Given the description of an element on the screen output the (x, y) to click on. 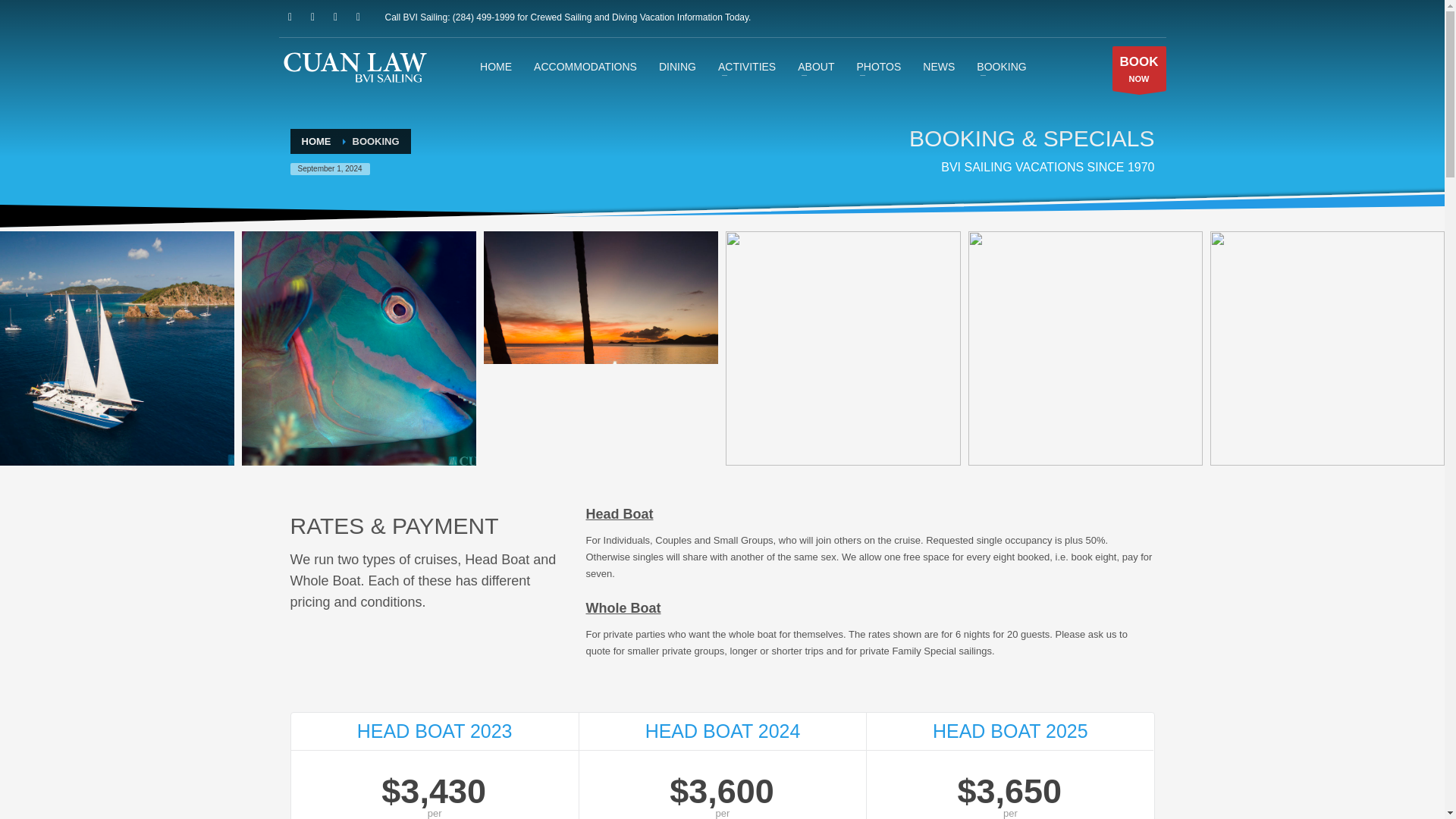
bvi-sailing-charter-vacation-001 (358, 348)
bvi-sailing-charter-vacation-028 (600, 348)
Instagram (1139, 67)
Facebook (335, 16)
HOME (290, 16)
Twitter (495, 66)
NEWS (312, 16)
BVI SAILING VACATION ON CUAN LAW (938, 66)
bvi-sailing-charter-vacation-006 (601, 348)
